Given the description of an element on the screen output the (x, y) to click on. 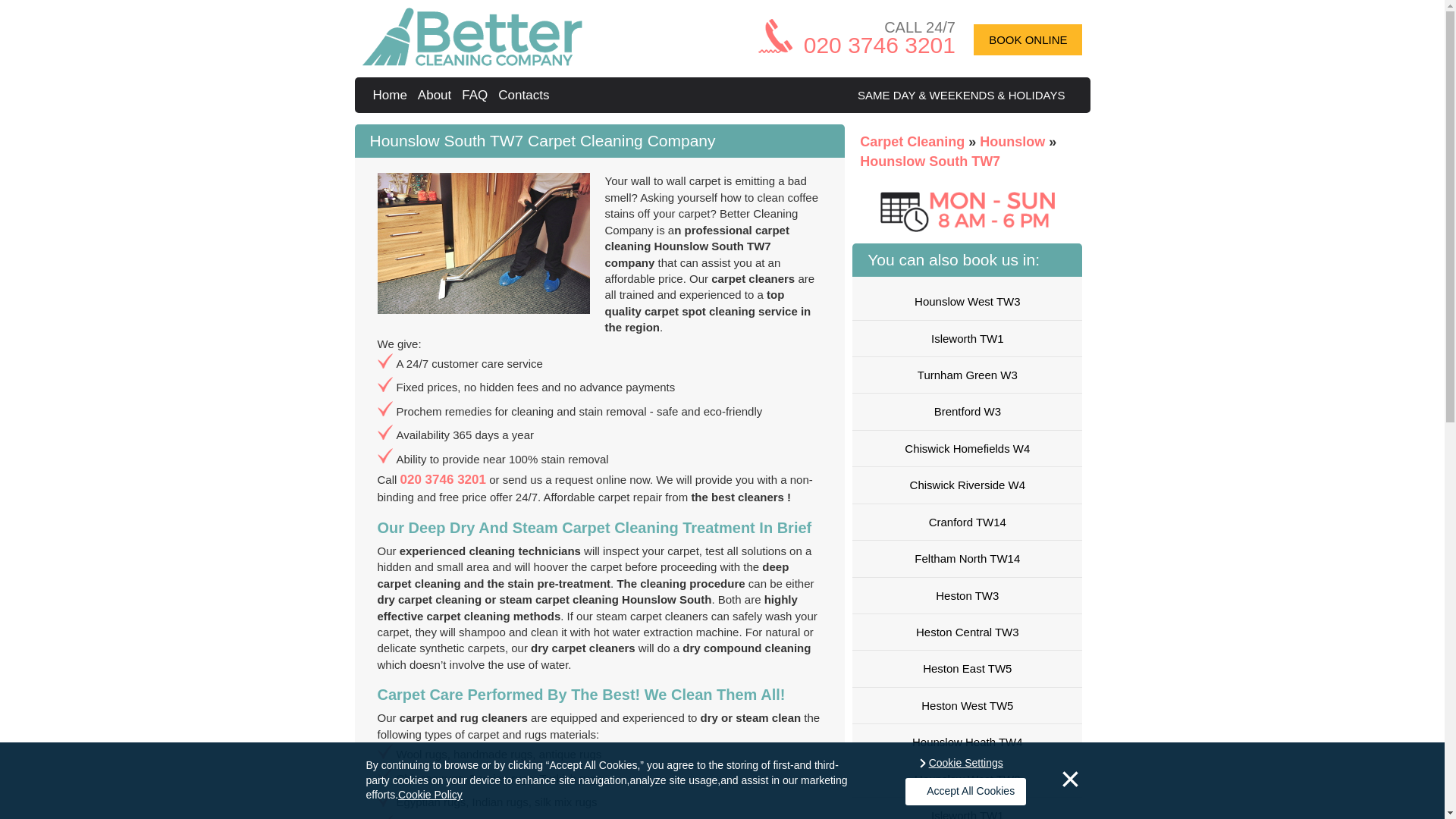
Hounslow South TW7 (930, 160)
Home (391, 94)
FAQ (476, 94)
Hounslow West TW3 (966, 301)
020 3746 3201 (443, 479)
BOOK ONLINE (1027, 39)
Better Cleaning Company (472, 61)
Carpet Cleaning (914, 141)
Better Cleaning Company (391, 94)
Hounslow (1013, 141)
About (436, 94)
